Given the description of an element on the screen output the (x, y) to click on. 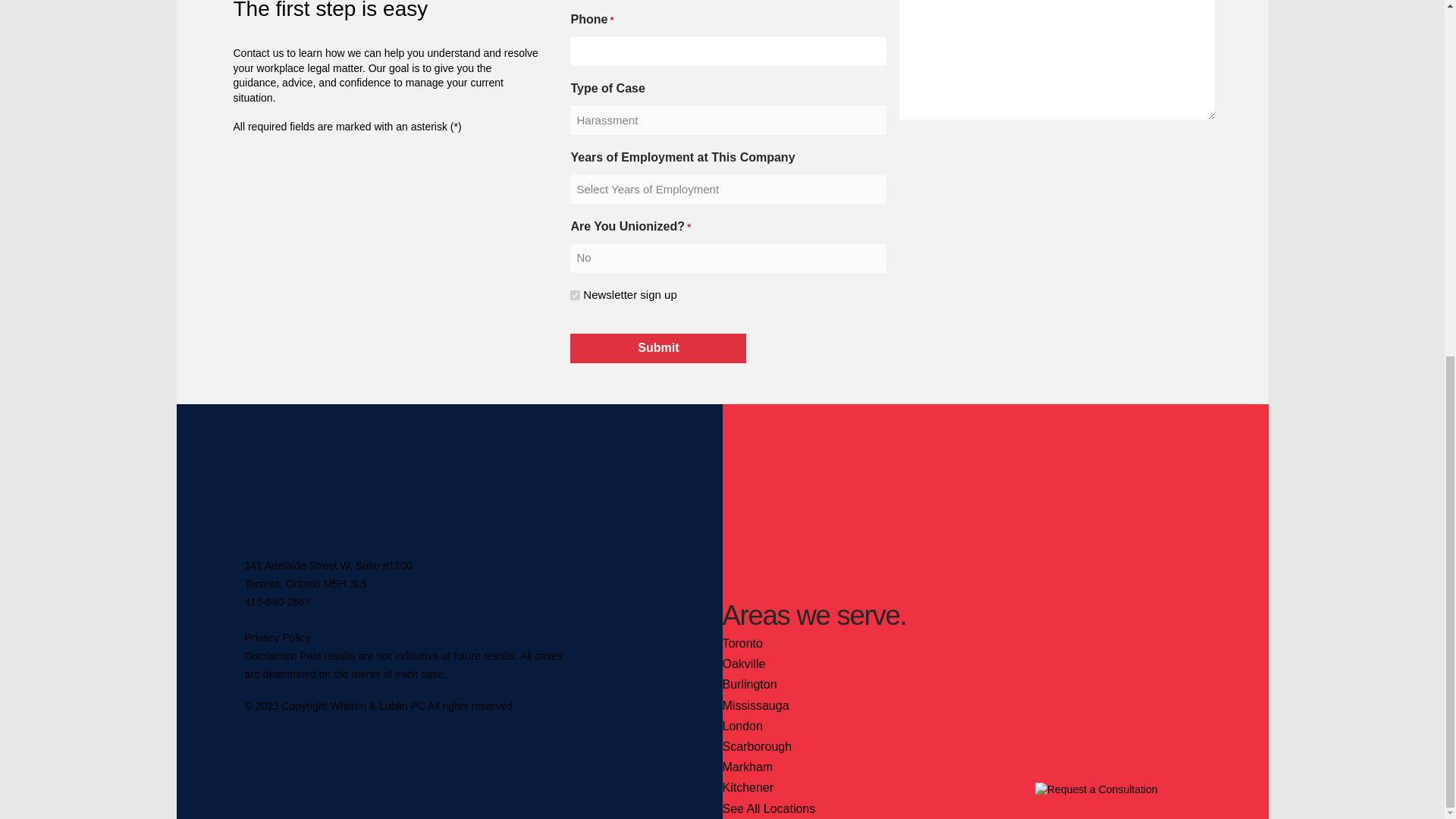
Submit (657, 348)
Newsletter sign up (574, 295)
